Given the description of an element on the screen output the (x, y) to click on. 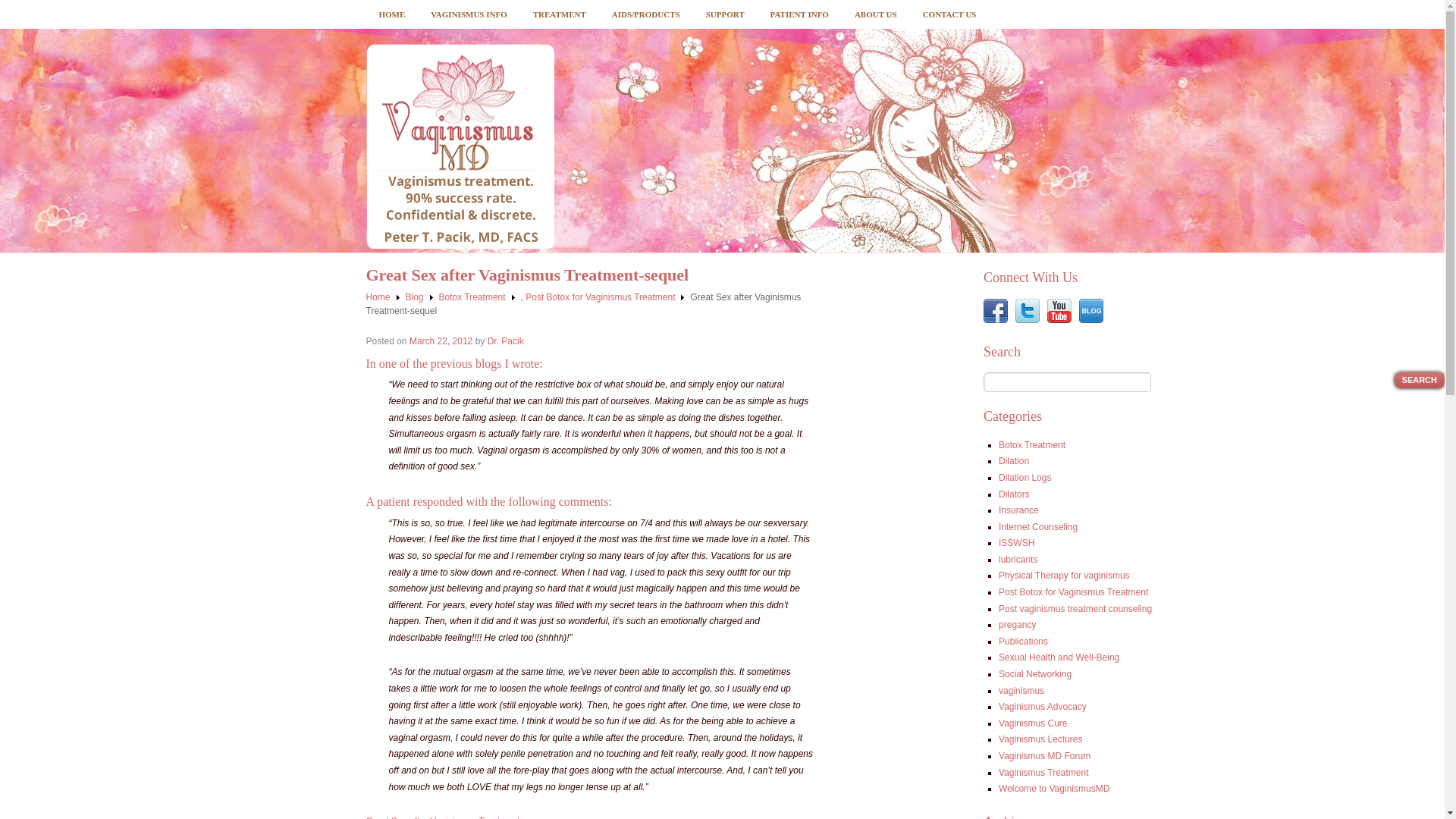
View all posts by Dr. Pacik (505, 340)
HOME (391, 14)
10:05 AM (440, 340)
PATIENT INFO (799, 14)
SUPPORT (725, 14)
ABOUT US (875, 14)
Great Sex after Vaginismus Treatment (442, 817)
Vaginismus MD (459, 146)
TREATMENT (558, 14)
VAGINISMUS INFO (468, 14)
